Given the description of an element on the screen output the (x, y) to click on. 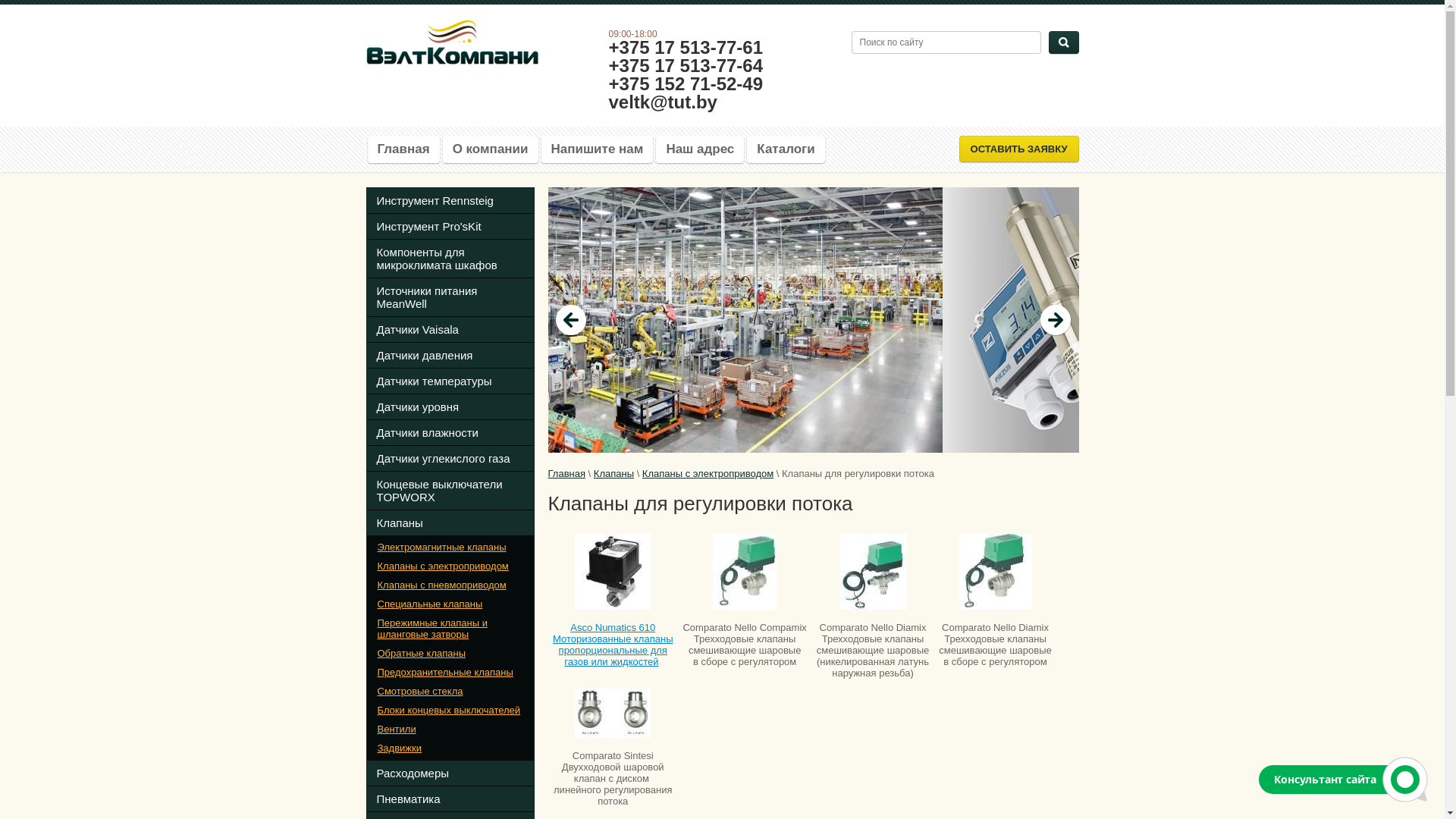
+375 17 513-77-61 Element type: text (685, 47)
Next Element type: text (1056, 319)
Prev Element type: text (570, 319)
veltk@tut.by Element type: text (662, 101)
+375 152 71-52-49 Element type: text (685, 83)
+375 17 513-77-64 Element type: text (685, 65)
